Given the description of an element on the screen output the (x, y) to click on. 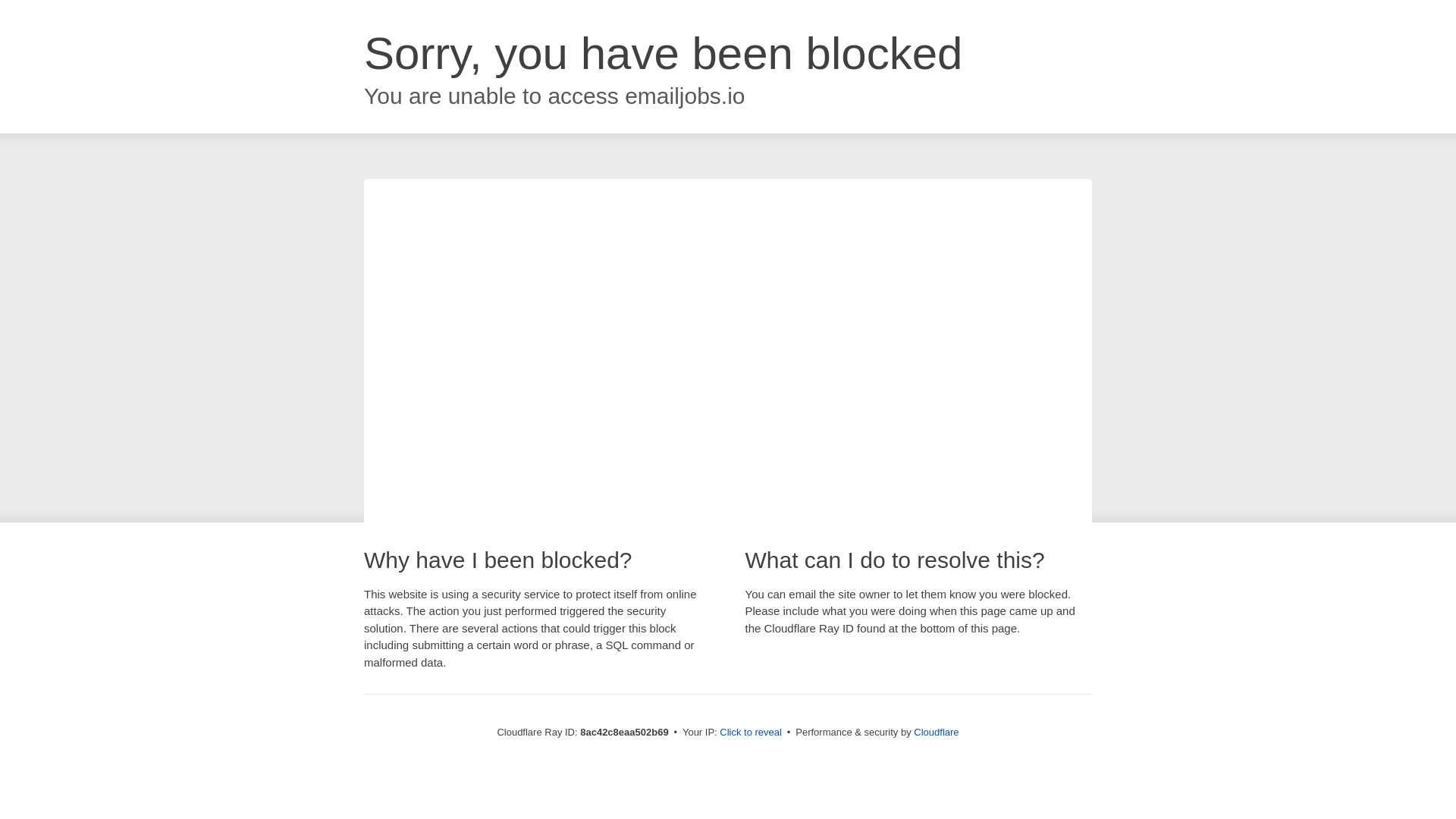
Click to reveal (750, 732)
Cloudflare (936, 731)
